Given the description of an element on the screen output the (x, y) to click on. 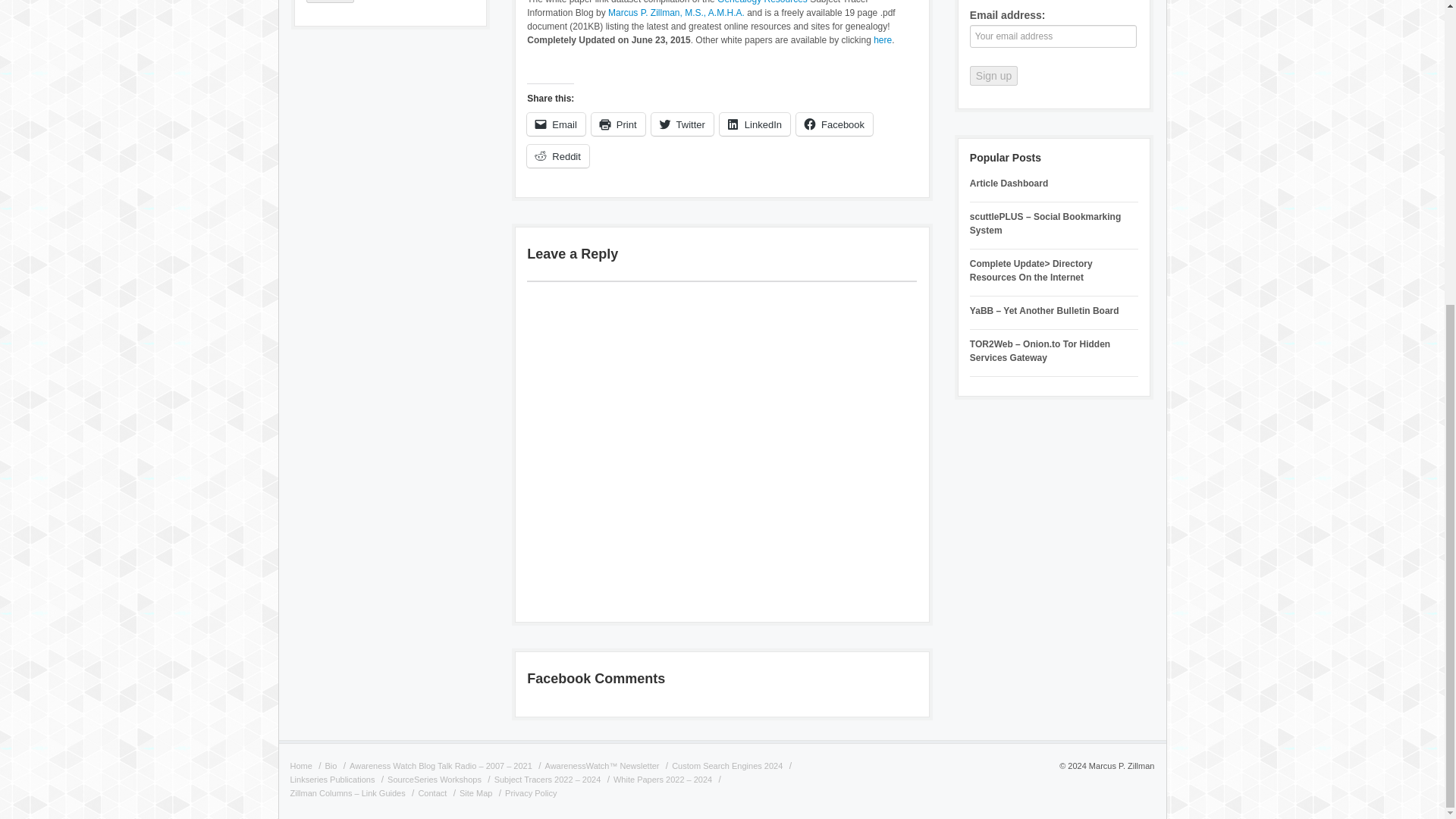
Click to print (618, 124)
Click to email a link to a friend (556, 124)
Sign up (329, 1)
Sign up (993, 75)
